Given the description of an element on the screen output the (x, y) to click on. 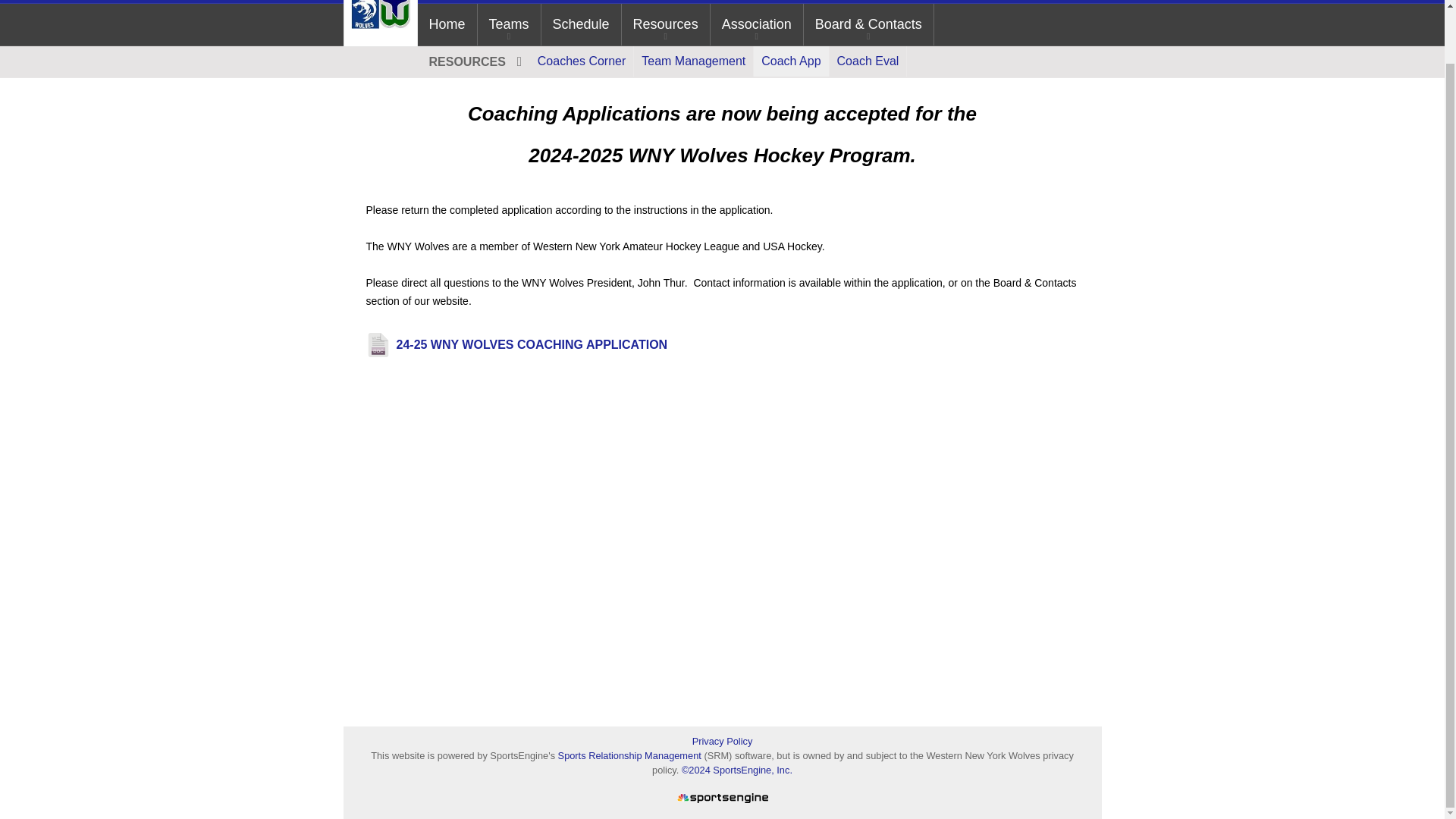
click to go to 'Home' (446, 24)
click to go to 'Teams' (508, 24)
Association (756, 24)
Home (446, 24)
Resources (665, 24)
RESOURCES (472, 60)
Schedule (581, 24)
click to go to 'Coaches Corner' (581, 60)
Teams (508, 24)
Team Management (692, 60)
